Given the description of an element on the screen output the (x, y) to click on. 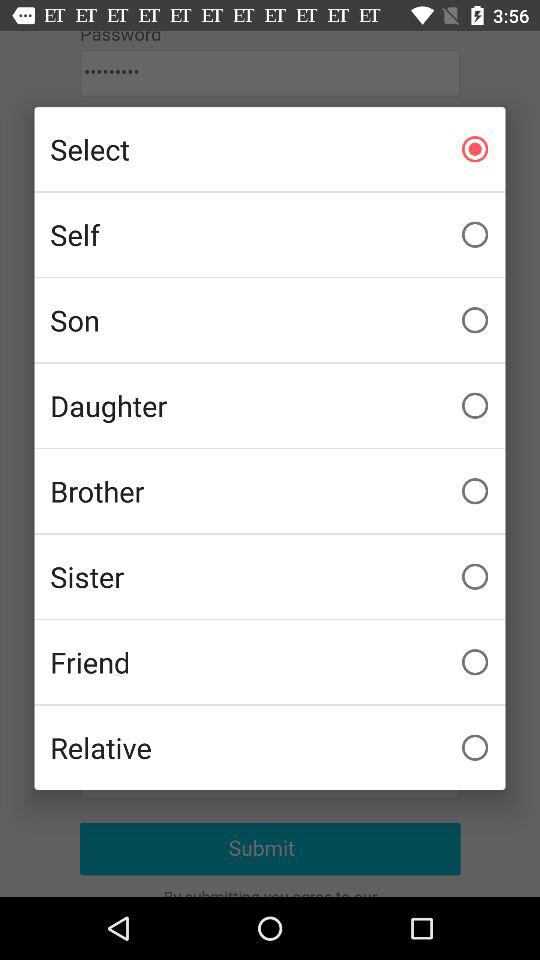
jump until relative item (269, 747)
